Given the description of an element on the screen output the (x, y) to click on. 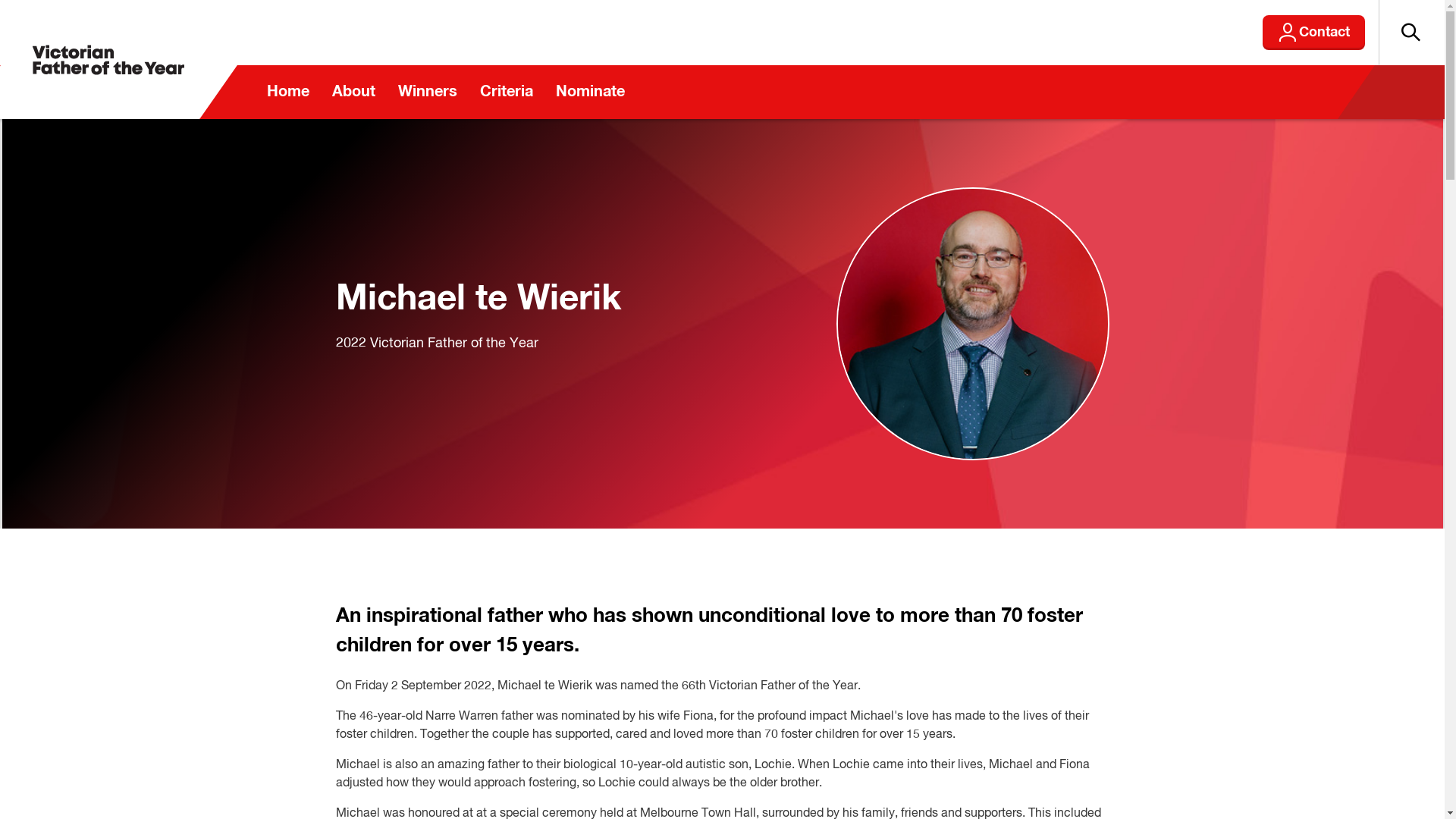
Contact Element type: text (1312, 32)
About Element type: text (352, 92)
Winners Element type: text (427, 92)
Home Element type: text (287, 92)
Nominate Element type: text (590, 92)
Criteria Element type: text (506, 92)
